Given the description of an element on the screen output the (x, y) to click on. 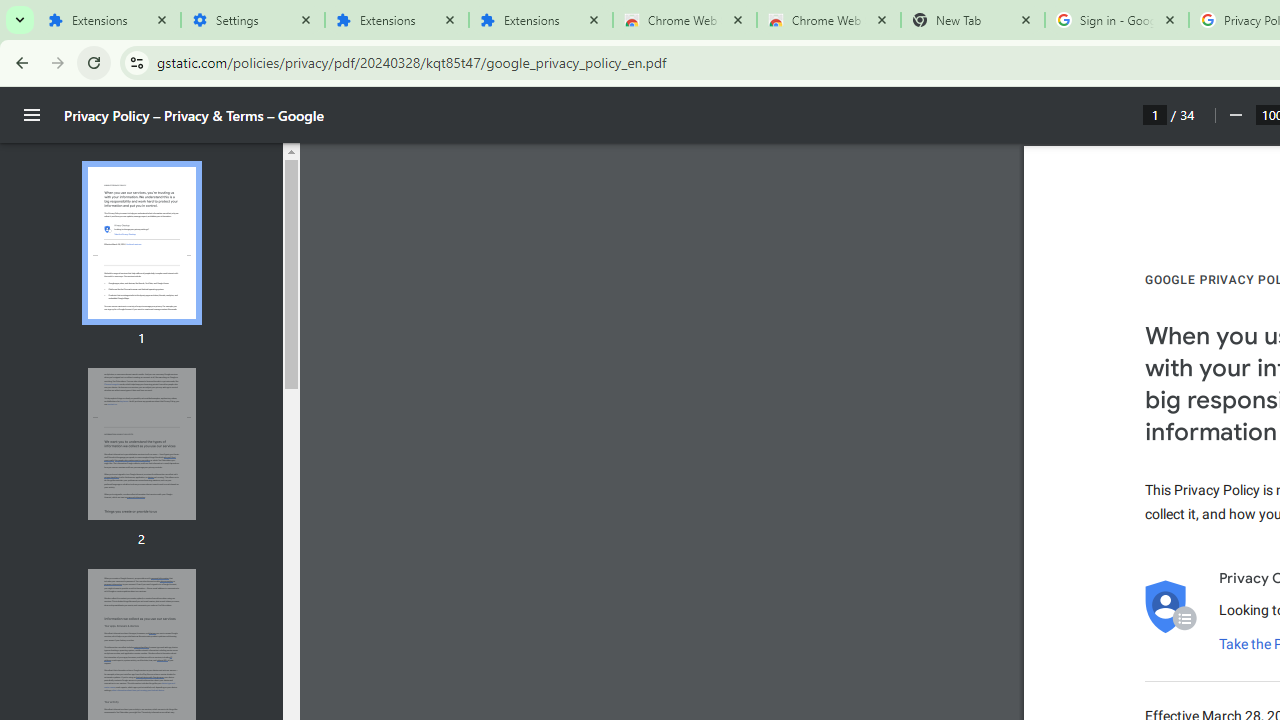
Chrome Web Store (684, 20)
New Tab (972, 20)
Extensions (396, 20)
